Given the description of an element on the screen output the (x, y) to click on. 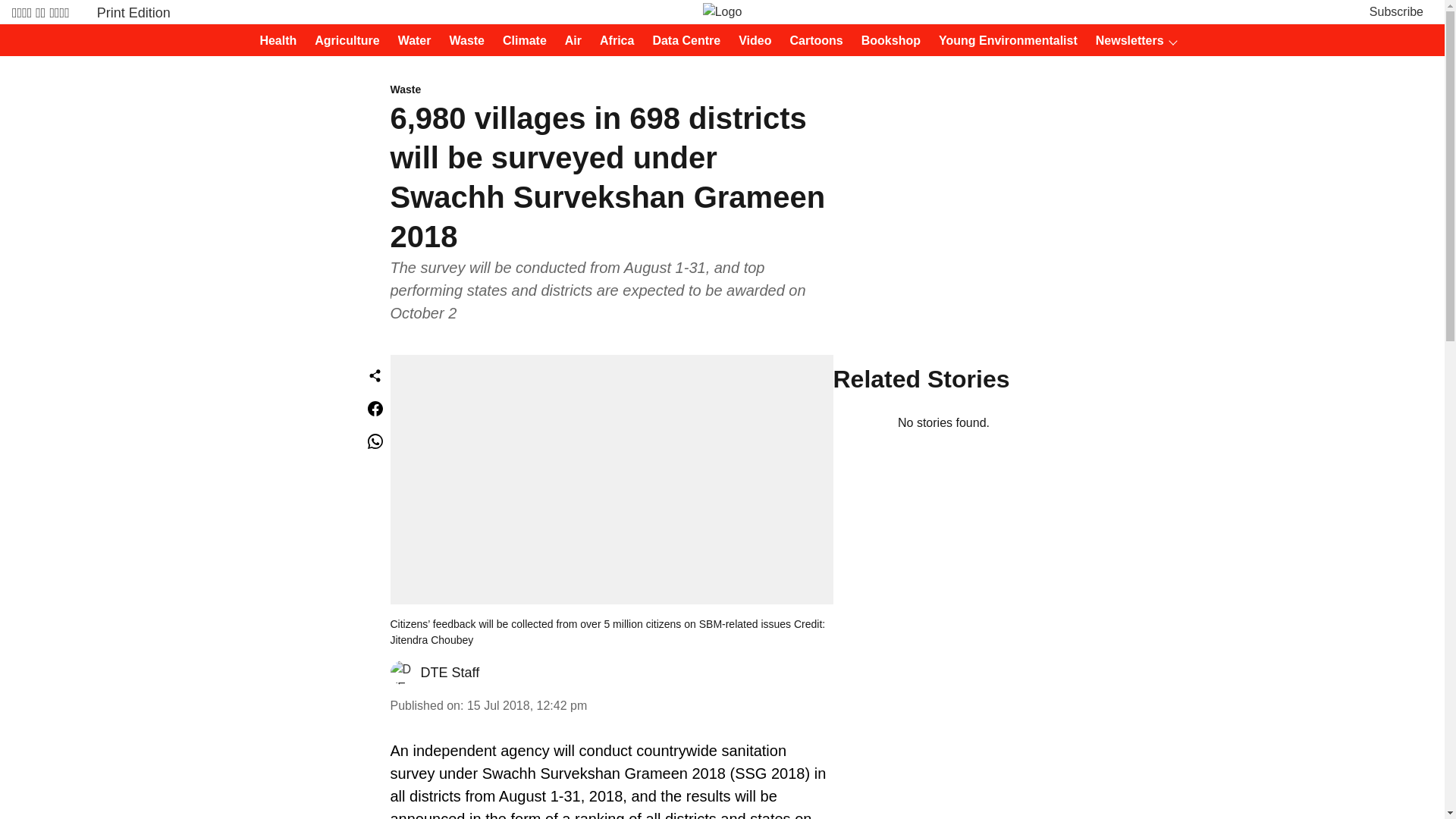
Waste (611, 90)
DTE Staff (449, 671)
Bookshop (885, 40)
Health (273, 40)
Data Centre (681, 40)
Cartoons (811, 40)
Africa (612, 40)
Water (409, 40)
Waste (461, 40)
Print Edition (133, 12)
Climate (520, 40)
Young Environmentalist (1003, 40)
Video (750, 40)
Agriculture (341, 40)
2018-07-15 12:42 (526, 705)
